Given the description of an element on the screen output the (x, y) to click on. 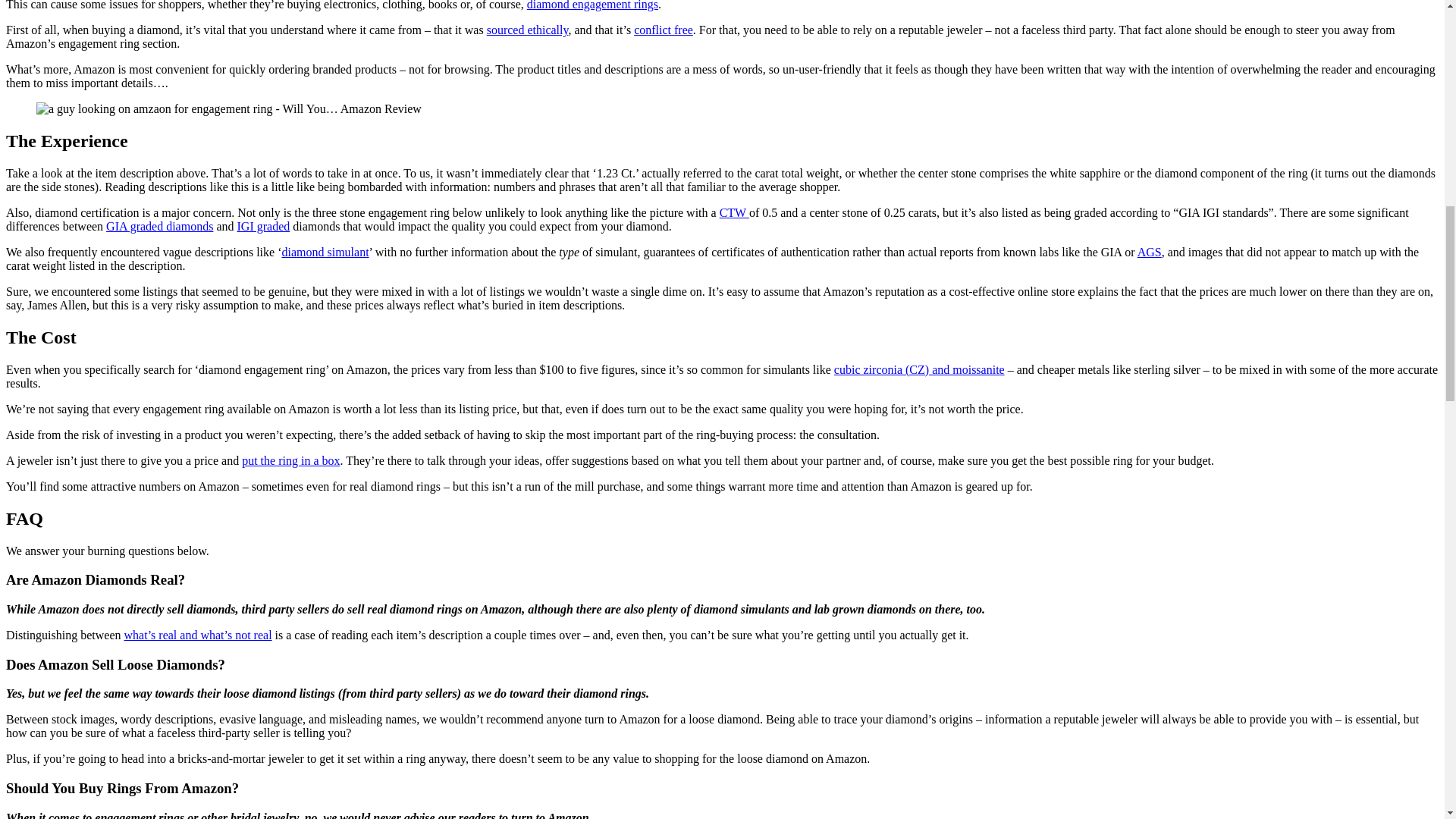
AGS (1149, 251)
conflict free (663, 29)
sourced ethically (527, 29)
diamond simulant (324, 251)
GIA graded diamonds (159, 226)
put the ring in a box (290, 460)
CTW (734, 212)
IGI graded (262, 226)
diamond engagement rings (592, 5)
